Given the description of an element on the screen output the (x, y) to click on. 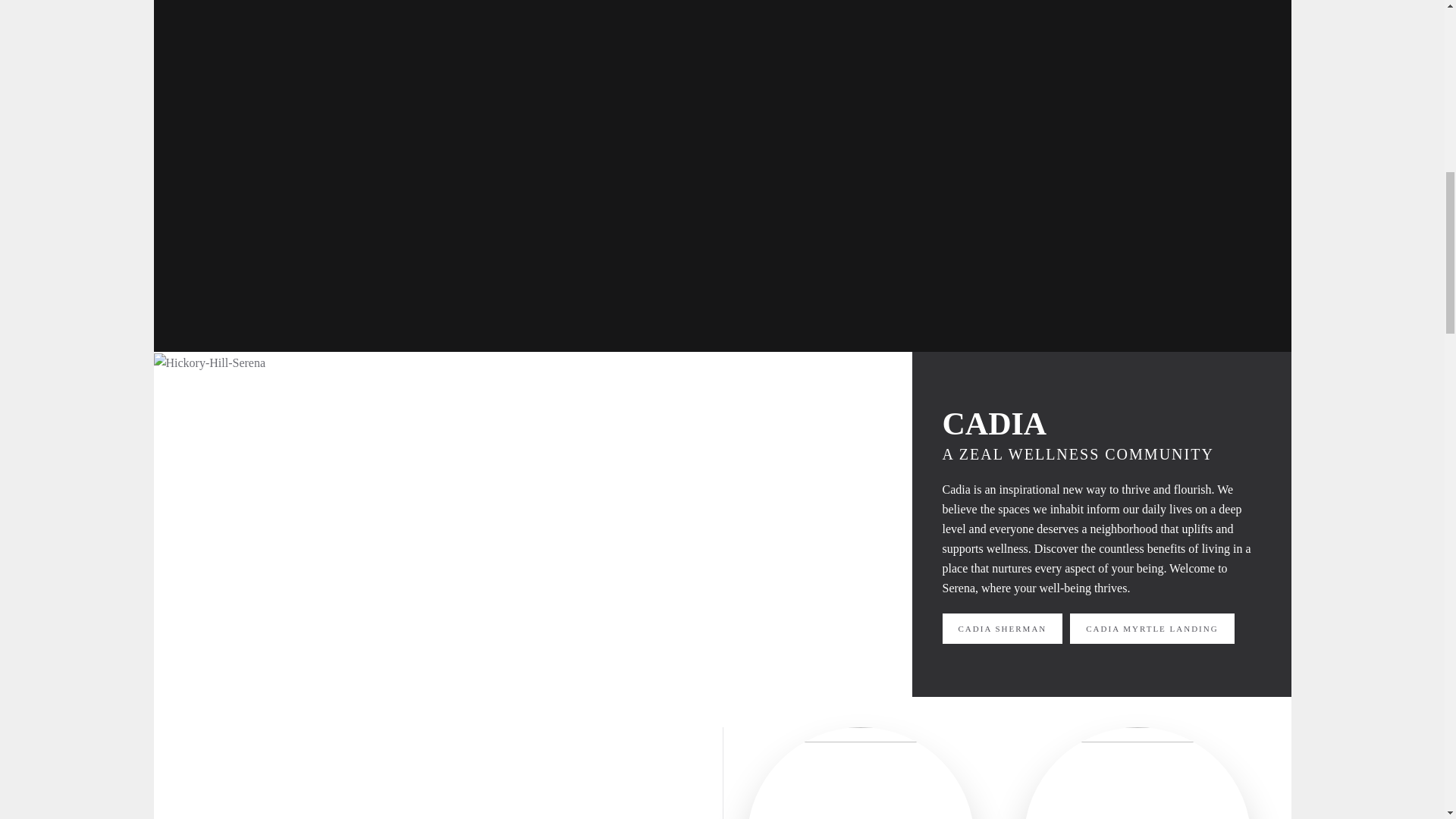
Cadia Sherman (1002, 628)
CADIA MYRTLE LANDING (1151, 628)
CADIA SHERMAN (1002, 628)
Cadia Myrtle Landing (1151, 628)
